Given the description of an element on the screen output the (x, y) to click on. 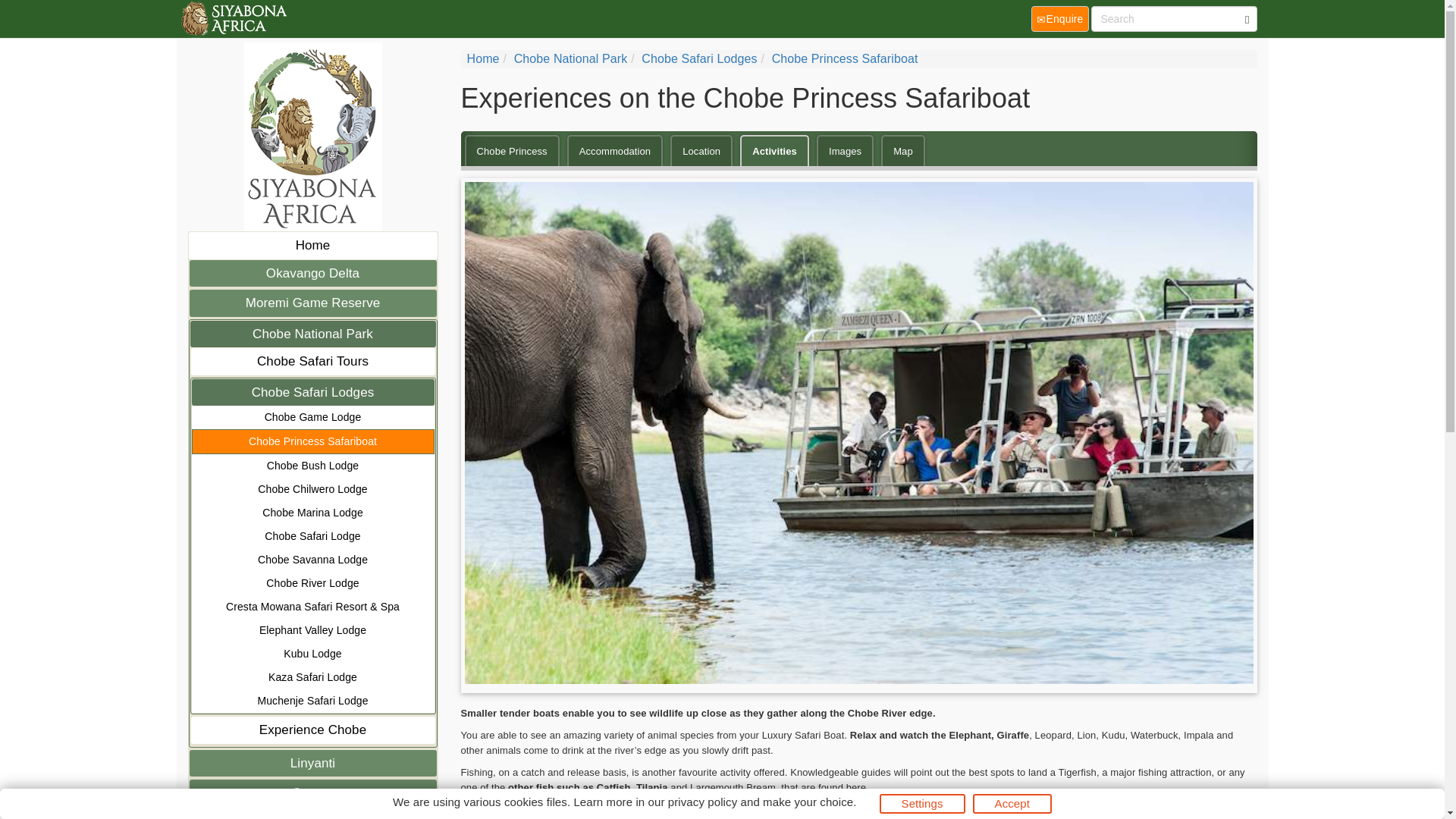
Chobe Safari Lodge (311, 535)
Chobe Princess Safariboat (312, 441)
Accommodation Information (615, 151)
Chobe Princess Safariboat (844, 58)
Chobe Safari Lodges (311, 392)
Linyanti (312, 762)
Activities Information (774, 151)
Map (902, 151)
Elephant Valley Lodge (311, 630)
Chobe River Lodge (311, 583)
